Given the description of an element on the screen output the (x, y) to click on. 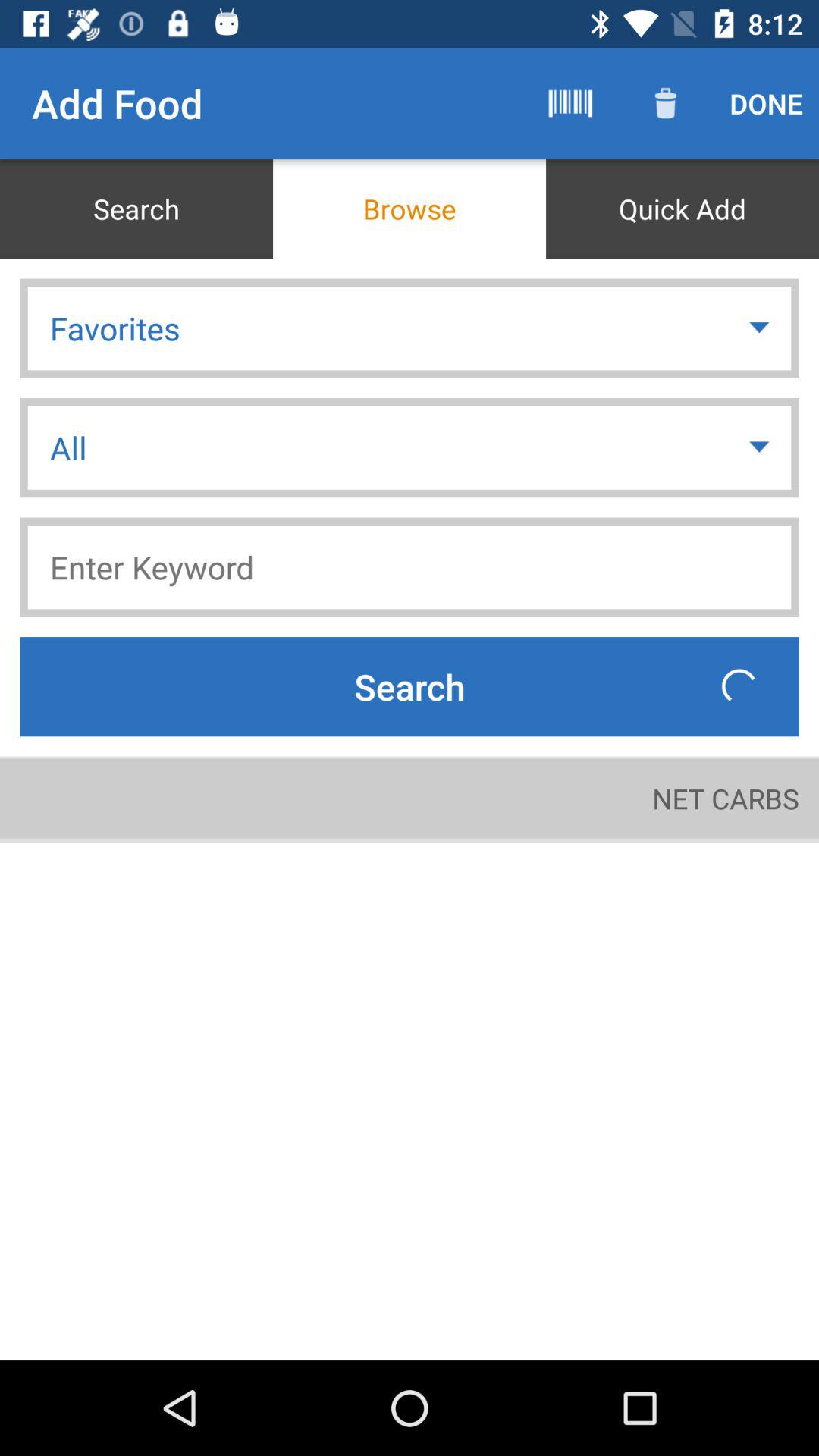
click icon below the quick add item (761, 328)
